Given the description of an element on the screen output the (x, y) to click on. 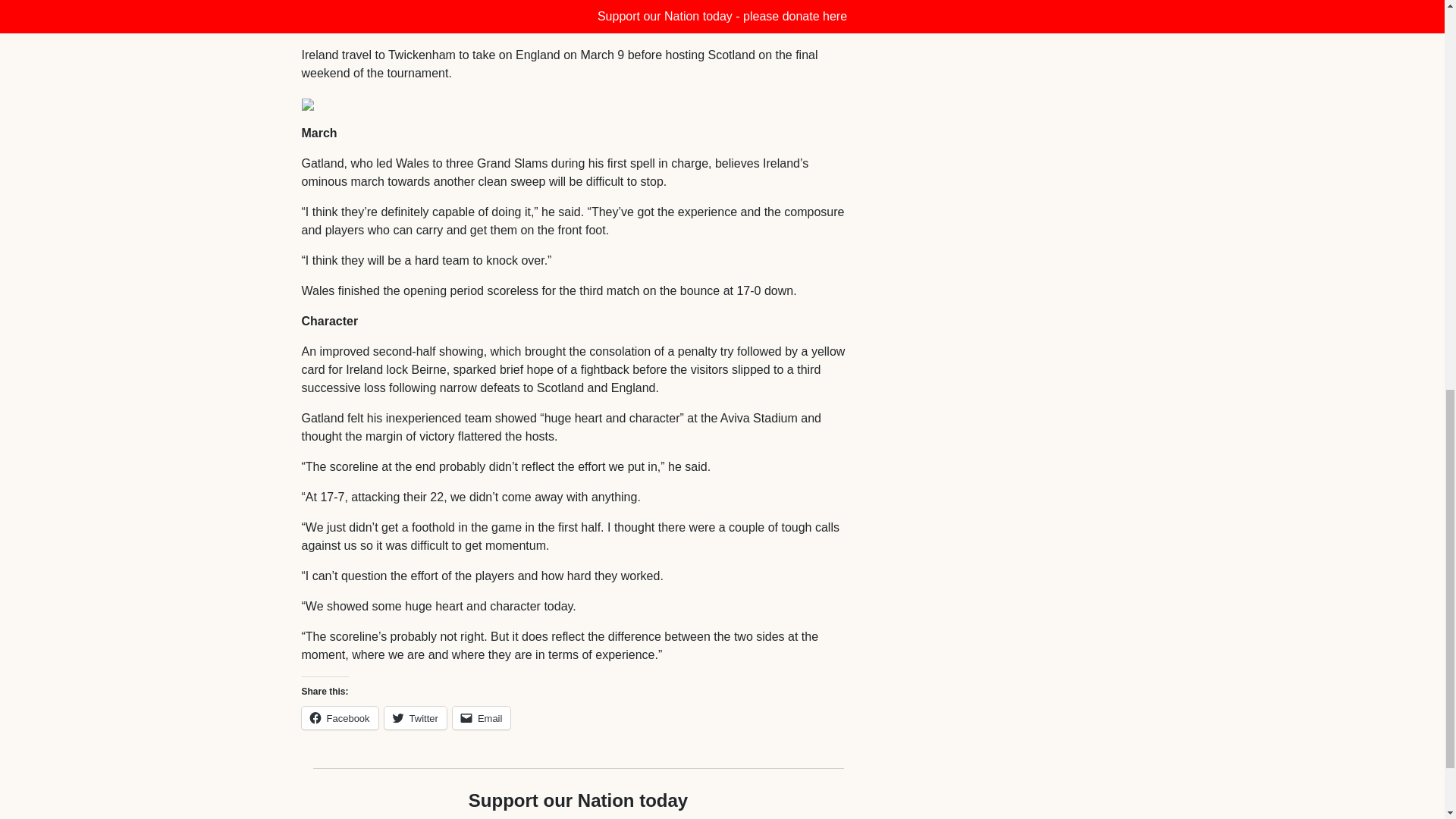
Email (481, 717)
Click to share on Twitter (415, 717)
Click to share on Facebook (339, 717)
Twitter (415, 717)
Facebook (339, 717)
Click to email a link to a friend (481, 717)
